Given the description of an element on the screen output the (x, y) to click on. 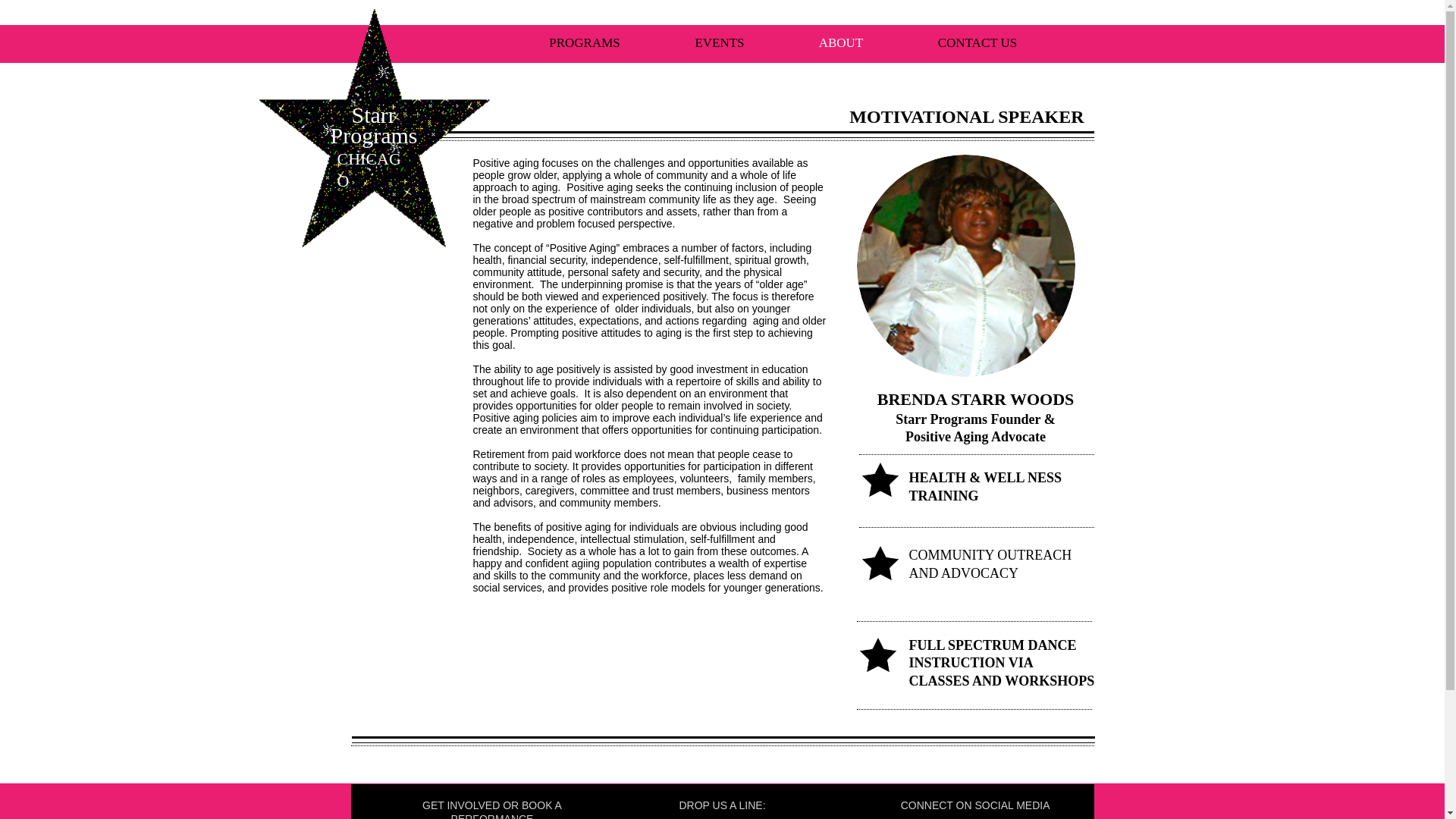
ABOUT (839, 43)
Starr (374, 114)
CHICAGO (368, 169)
EVENTS (719, 43)
CONTACT US (977, 43)
PROGRAMS (584, 43)
Programs (373, 135)
